Given the description of an element on the screen output the (x, y) to click on. 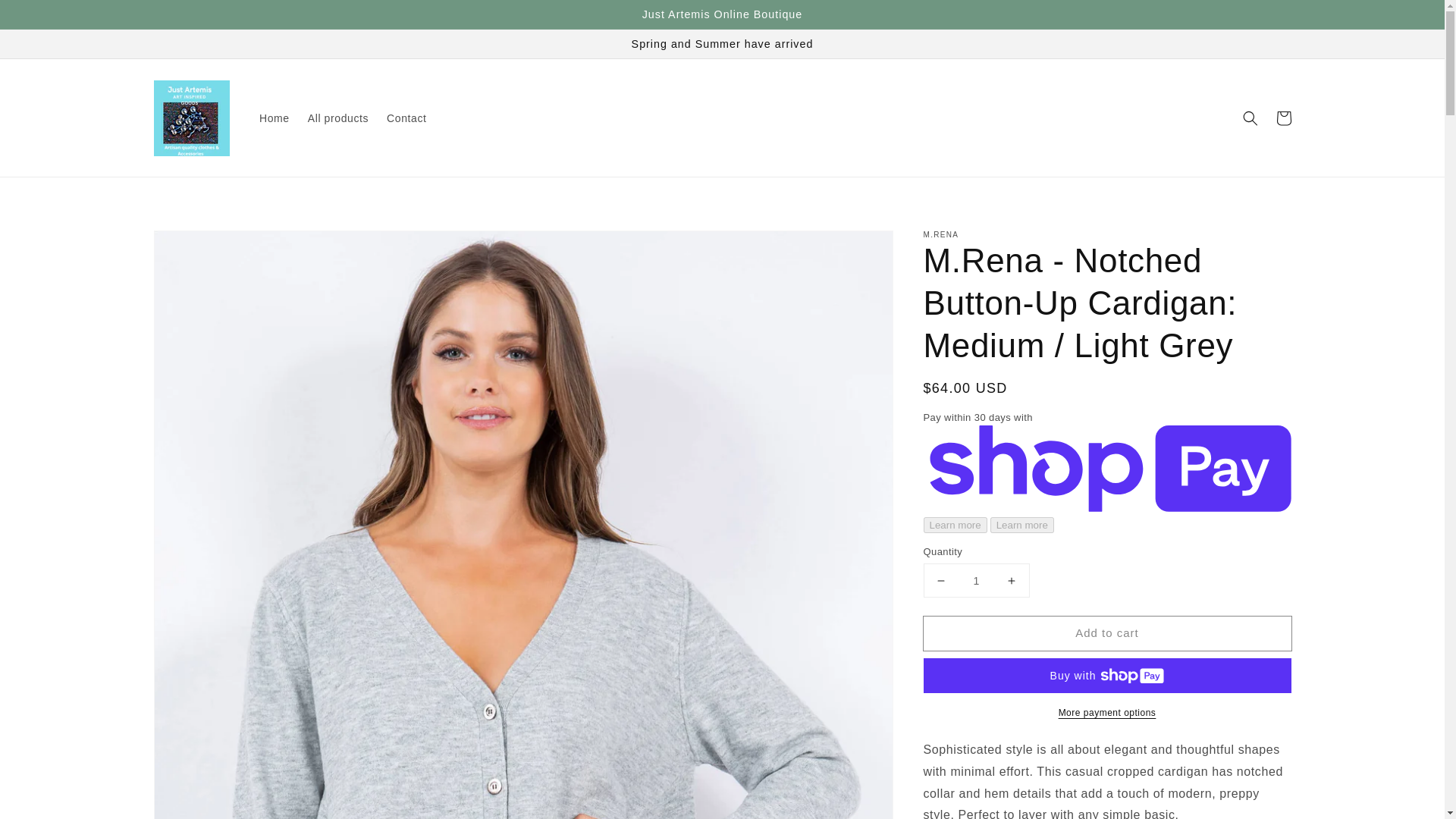
More payment options (1107, 712)
Add to cart (1107, 633)
Skip to content (45, 16)
Skip to product information (198, 246)
All products (337, 118)
Cart (1283, 118)
Home (274, 118)
1 (976, 580)
Contact (406, 118)
